Given the description of an element on the screen output the (x, y) to click on. 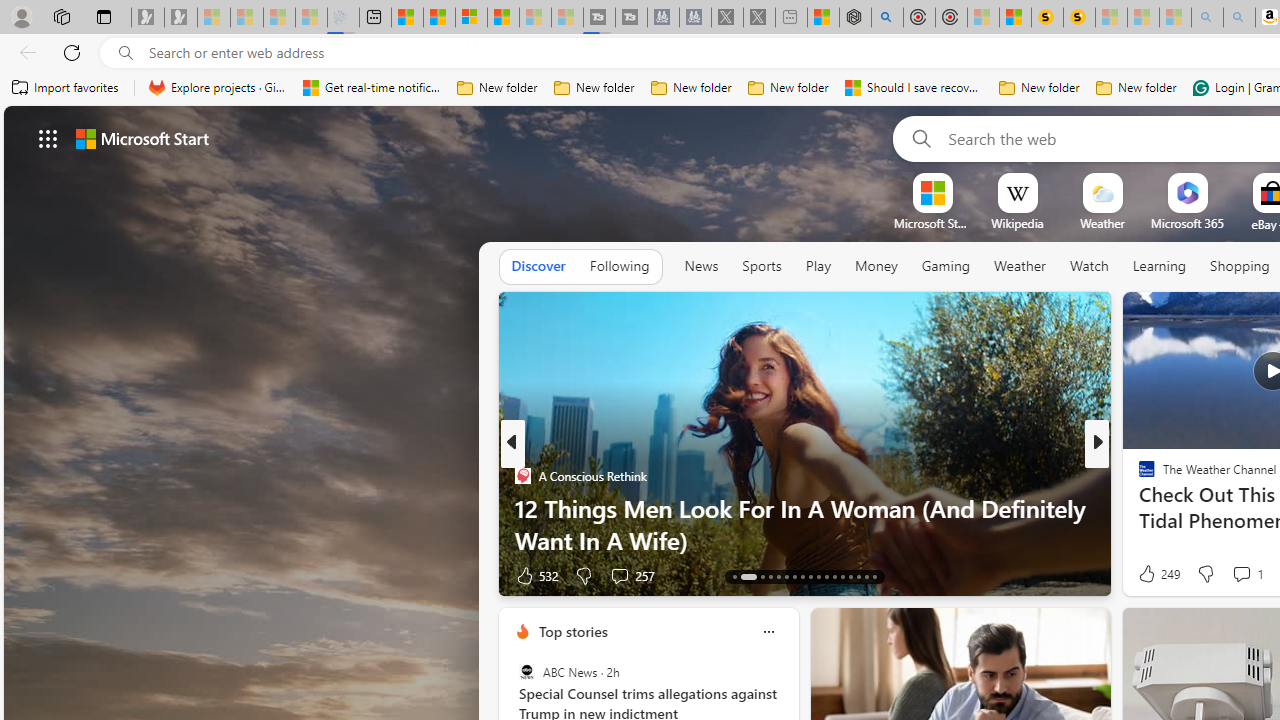
CNBC (1138, 475)
AutomationID: tab-20 (801, 576)
AutomationID: tab-19 (793, 576)
AutomationID: tab-22 (818, 576)
View comments 3 Comment (1234, 575)
AutomationID: tab-13 (733, 576)
532 Like (535, 574)
View comments 8 Comment (1229, 575)
Learning (1159, 267)
32 Like (1149, 574)
249 Like (1157, 574)
AutomationID: tab-25 (842, 576)
